Given the description of an element on the screen output the (x, y) to click on. 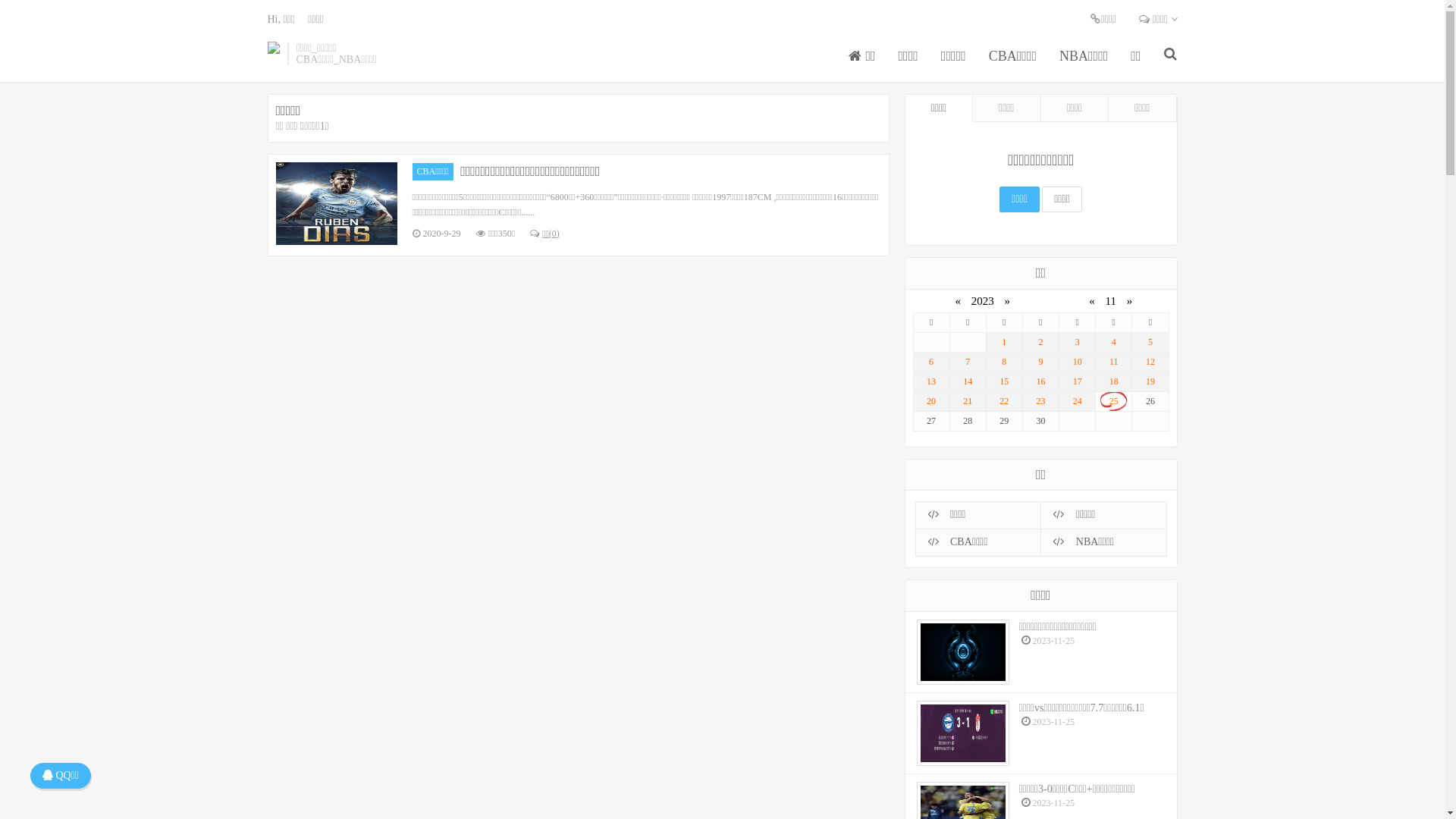
16 Element type: text (1040, 381)
21 Element type: text (967, 401)
12 Element type: text (1149, 361)
1 Element type: text (1004, 342)
6 Element type: text (930, 361)
19 Element type: text (1149, 381)
14 Element type: text (967, 381)
4 Element type: text (1113, 342)
5 Element type: text (1149, 342)
17 Element type: text (1077, 381)
9 Element type: text (1040, 361)
22 Element type: text (1004, 401)
25 Element type: text (1113, 401)
23 Element type: text (1040, 401)
20 Element type: text (930, 401)
2 Element type: text (1040, 342)
15 Element type: text (1004, 381)
7 Element type: text (967, 361)
8 Element type: text (1004, 361)
13 Element type: text (930, 381)
24 Element type: text (1077, 401)
18 Element type: text (1113, 381)
11 Element type: text (1113, 361)
3 Element type: text (1077, 342)
10 Element type: text (1077, 361)
